Given the description of an element on the screen output the (x, y) to click on. 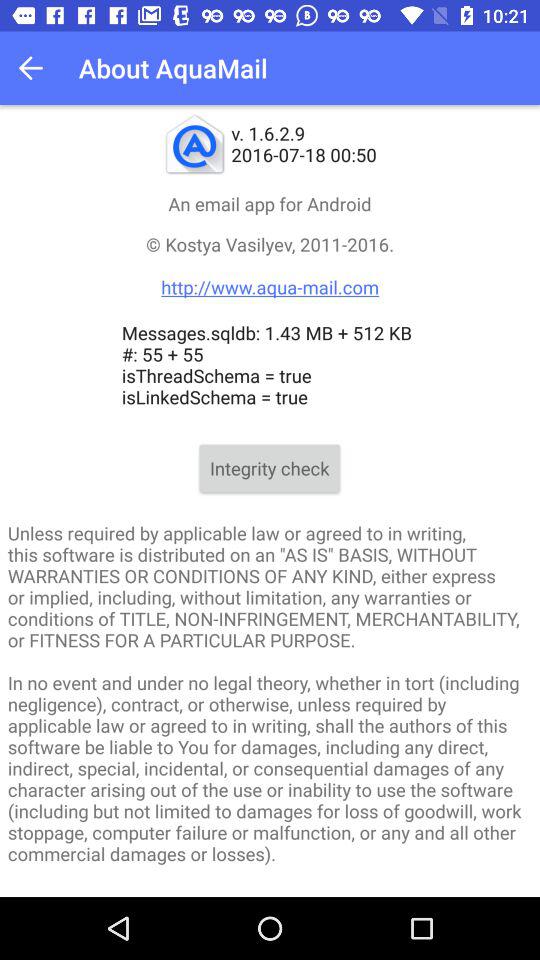
turn on the app to the left of about aquamail icon (36, 68)
